Given the description of an element on the screen output the (x, y) to click on. 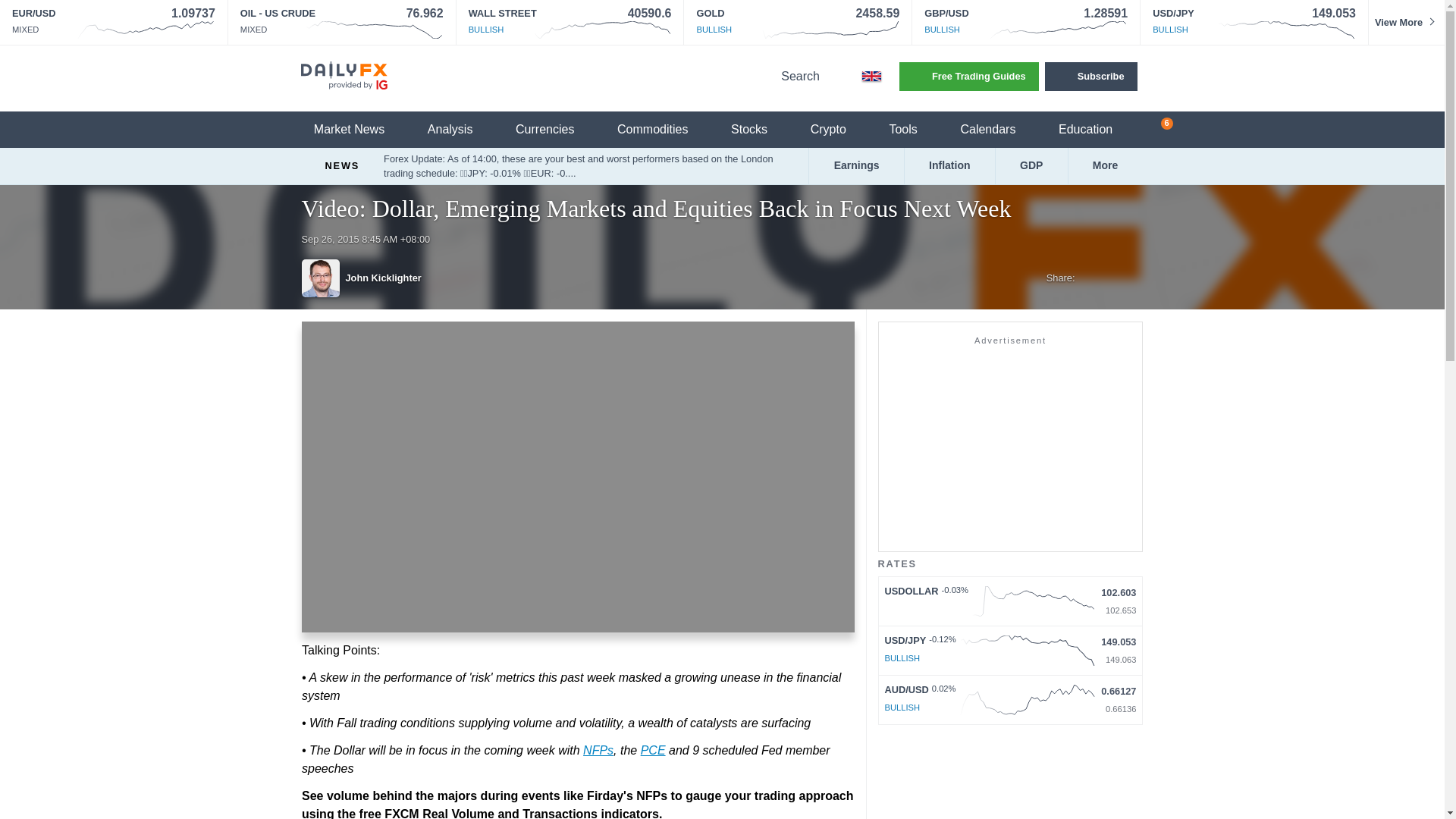
Free Trading Guides (969, 76)
PCE (652, 749)
Market News (357, 129)
NFPs (597, 749)
Analysis (458, 129)
Currencies (554, 129)
Subscribe (1091, 76)
